Given the description of an element on the screen output the (x, y) to click on. 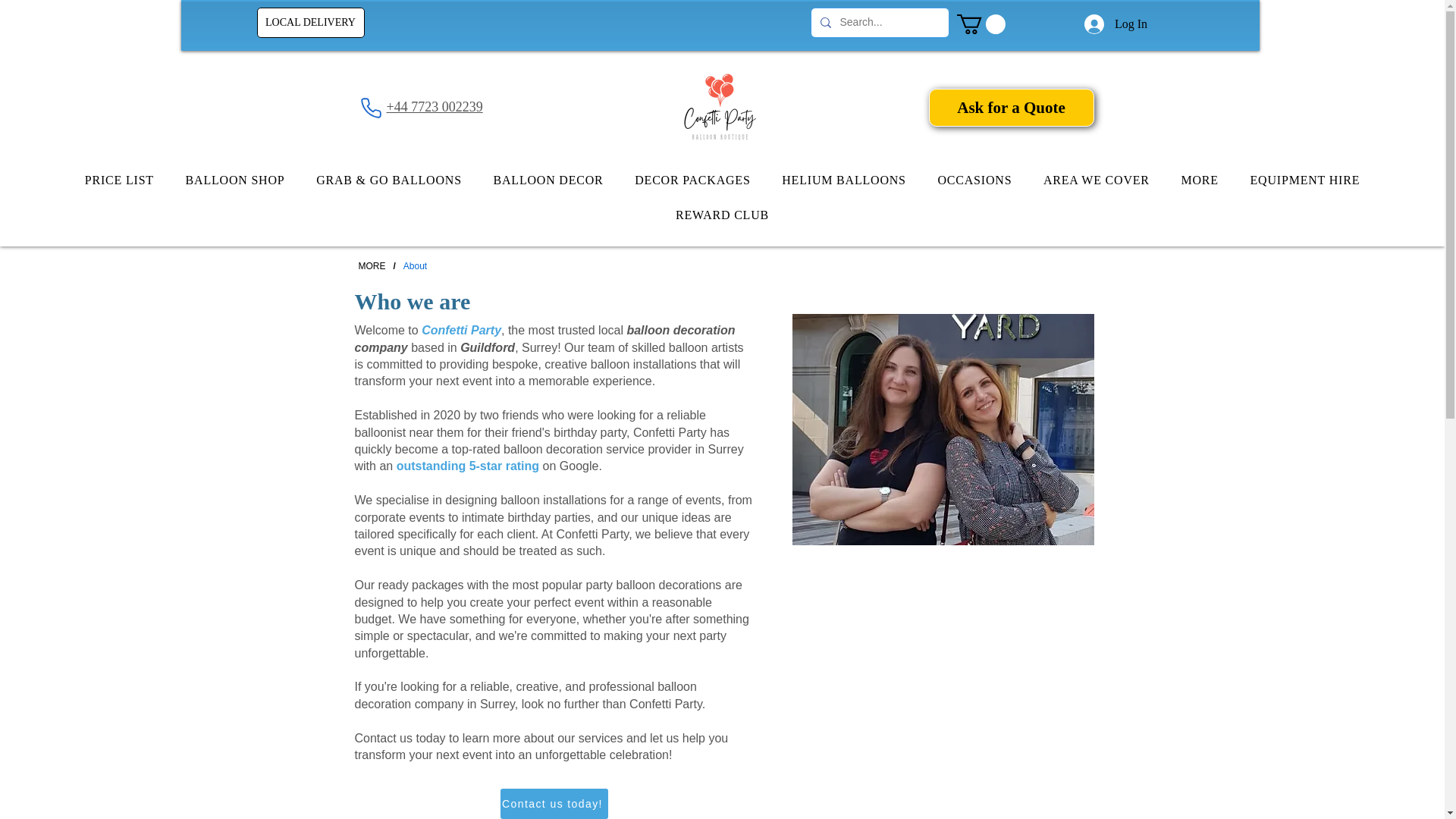
BALLOON DECOR (548, 179)
Ask for a Quote (1010, 107)
BALLOON SHOP (235, 179)
PRICE LIST (118, 179)
Log In (1115, 23)
LOCAL DELIVERY (310, 22)
confetti party logo (719, 107)
